Given the description of an element on the screen output the (x, y) to click on. 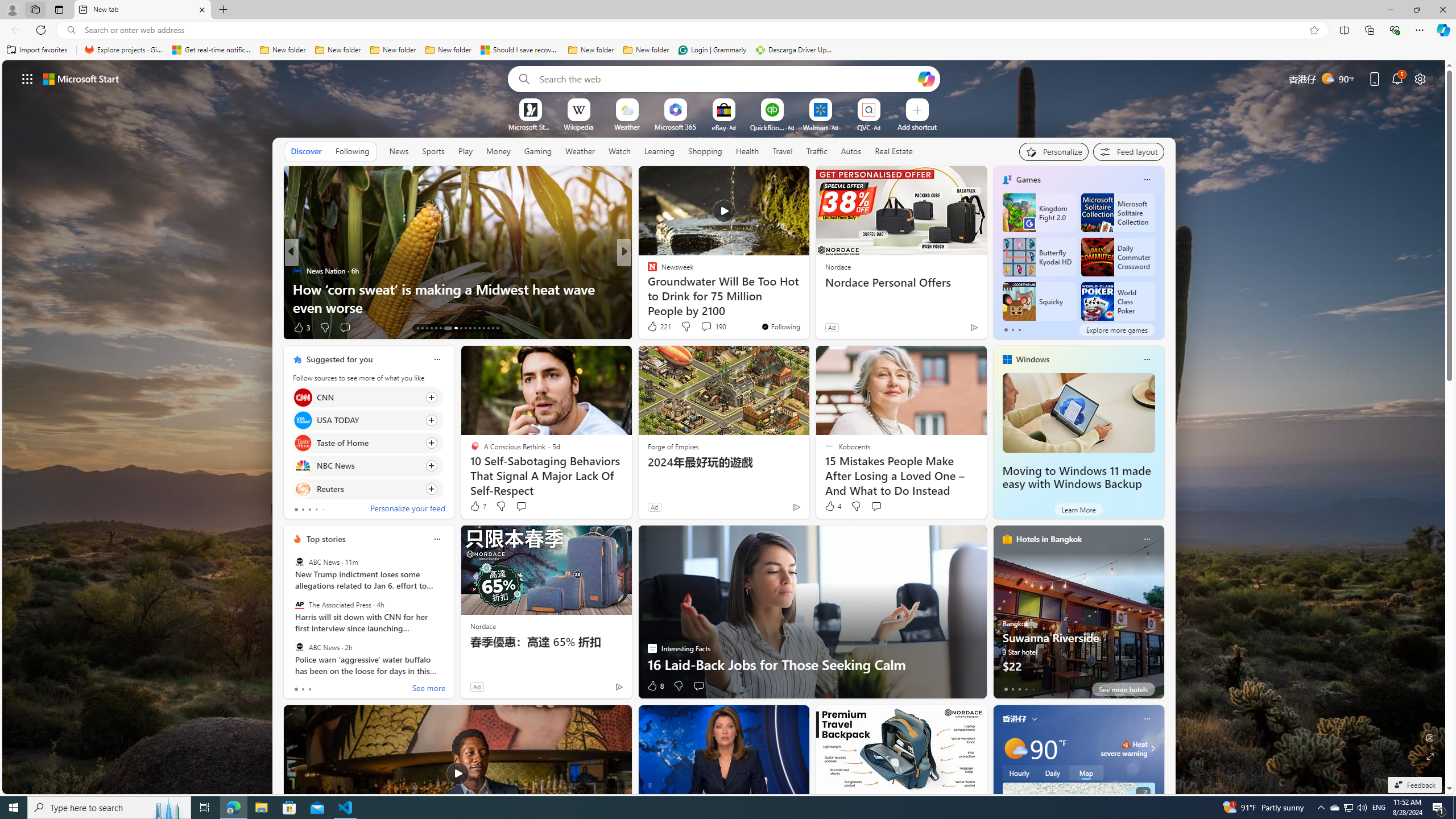
AutomationID: tab-23 (470, 328)
Click to follow source CNN (367, 397)
Add this page to favorites (Ctrl+D) (1314, 29)
View comments 1 Comment (702, 327)
AutomationID: backgroundImagePicture (723, 426)
Open Copilot (926, 78)
Nordace Personal Offers (900, 282)
3 Like (301, 327)
Edit Background (1430, 737)
tab-2 (1019, 689)
Flannels or FlipFlops (647, 270)
Microsoft start (81, 78)
Traffic (816, 151)
